Given the description of an element on the screen output the (x, y) to click on. 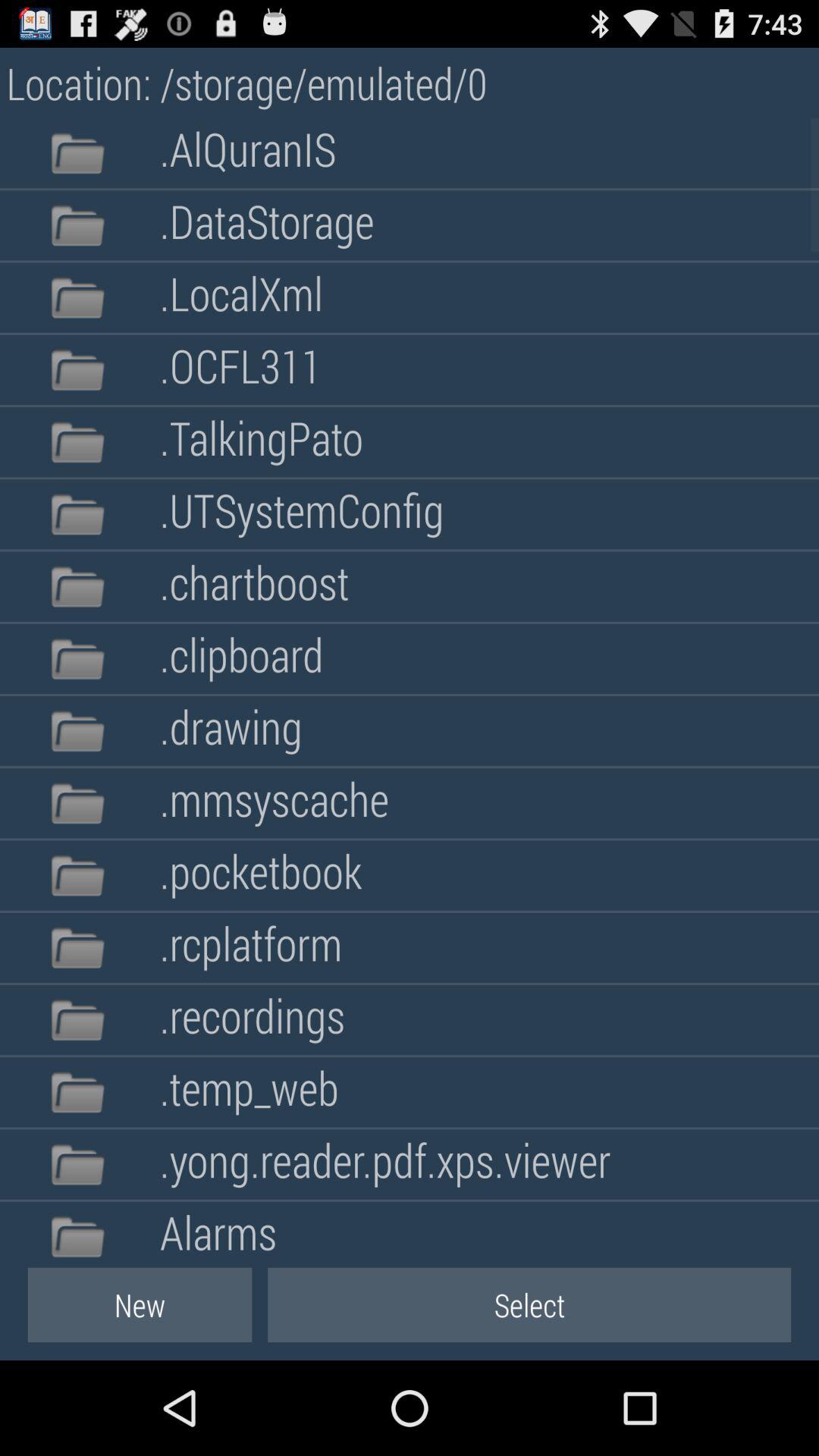
scroll to .utsystemconfig icon (301, 514)
